Given the description of an element on the screen output the (x, y) to click on. 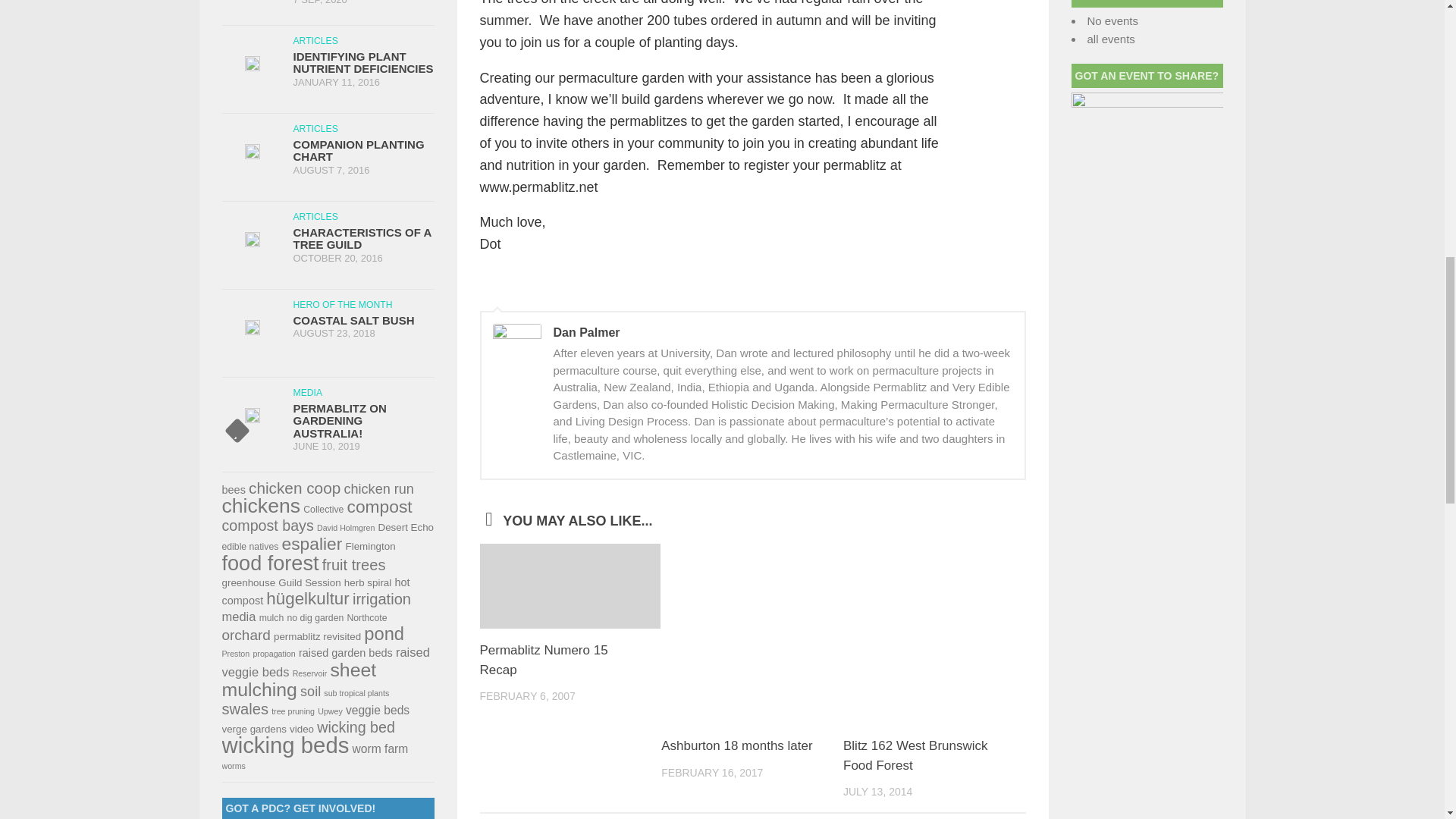
Ashburton 18 months later (736, 745)
Permablitz Numero 15 Recap (543, 659)
